Given the description of an element on the screen output the (x, y) to click on. 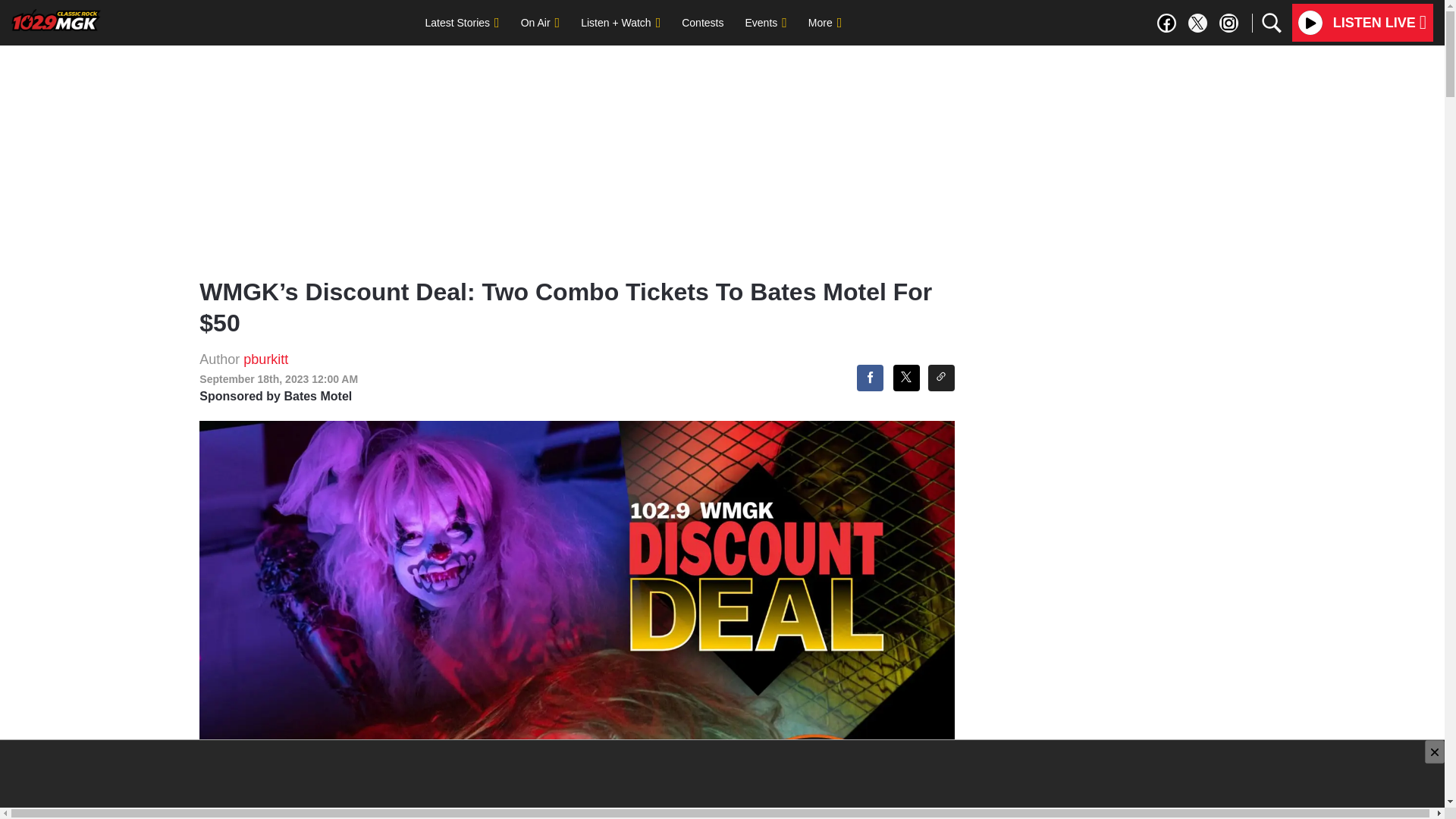
Contests (702, 22)
Close AdCheckmark indicating ad close (1434, 751)
Latest Stories (461, 22)
On Air (540, 22)
Events (764, 22)
pburkitt (265, 359)
